Given the description of an element on the screen output the (x, y) to click on. 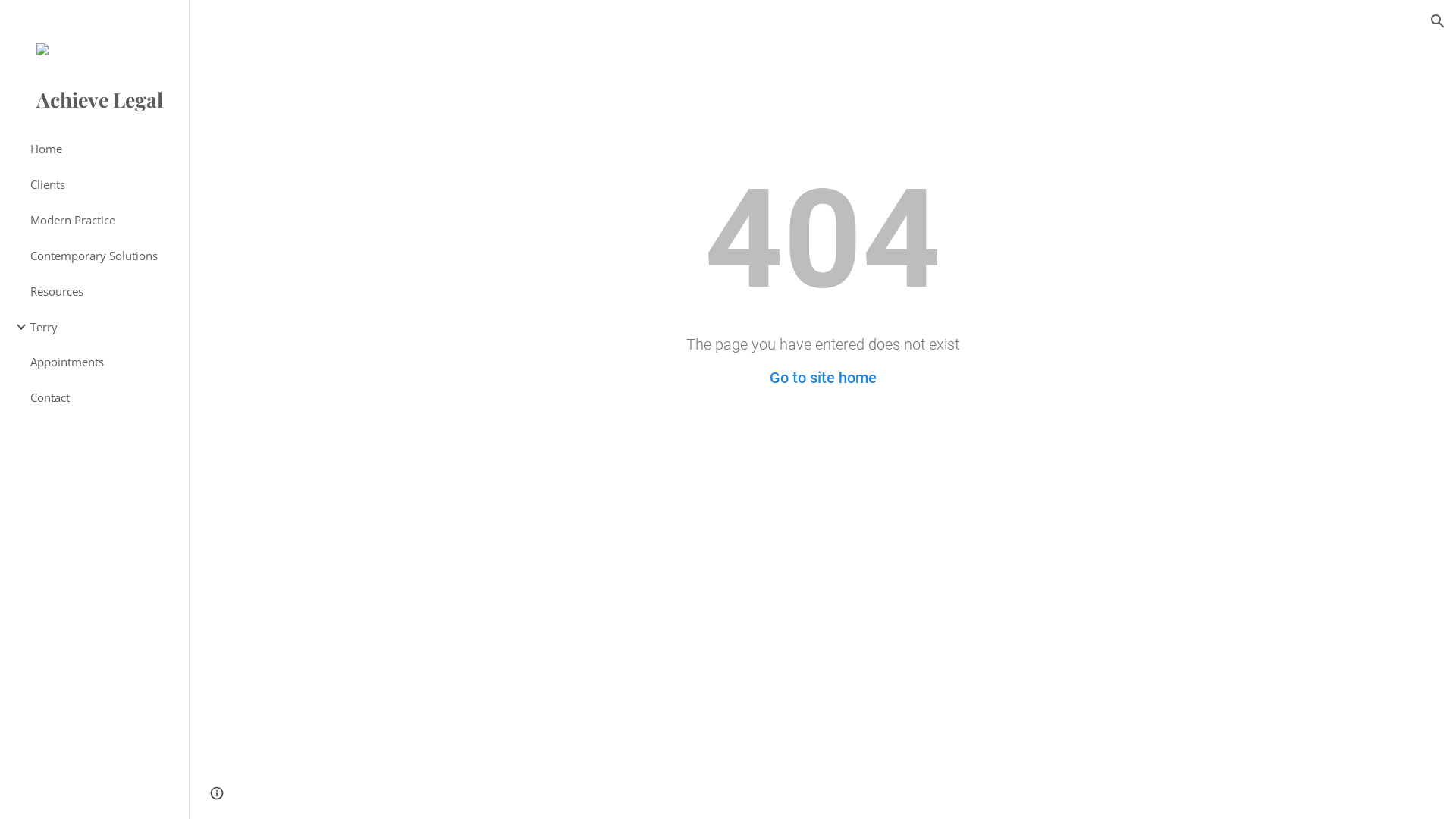
Contact Element type: text (103, 397)
Go to site home Element type: text (821, 377)
Terry Element type: text (103, 327)
Clients Element type: text (103, 184)
Modern Practice Element type: text (103, 220)
Achieve Legal Element type: text (94, 103)
Resources Element type: text (103, 291)
Home Element type: text (103, 148)
Expand/Collapse Element type: hover (16, 326)
Contemporary Solutions Element type: text (103, 255)
Appointments Element type: text (103, 361)
